Given the description of an element on the screen output the (x, y) to click on. 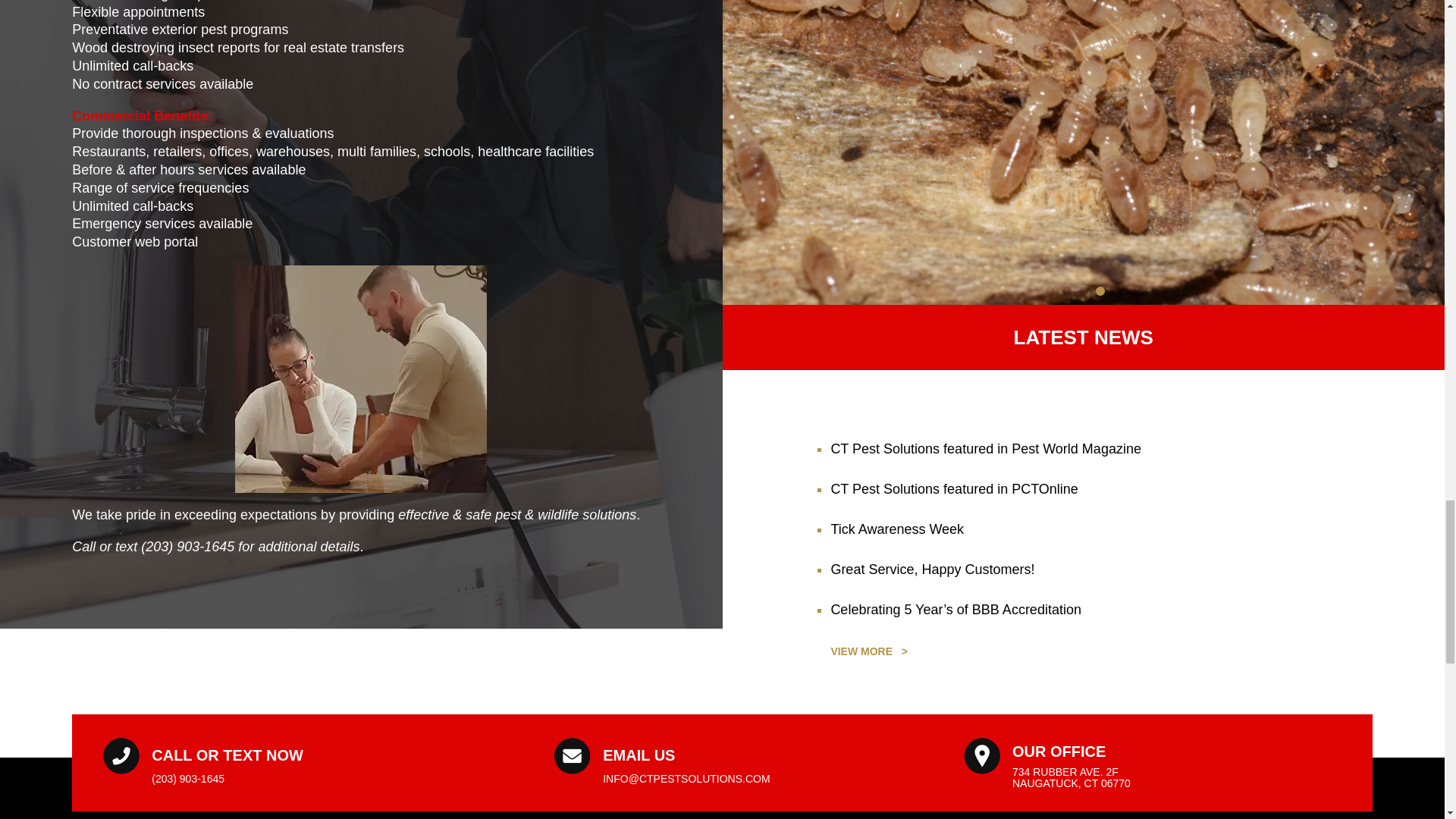
Latest News (868, 651)
